Given the description of an element on the screen output the (x, y) to click on. 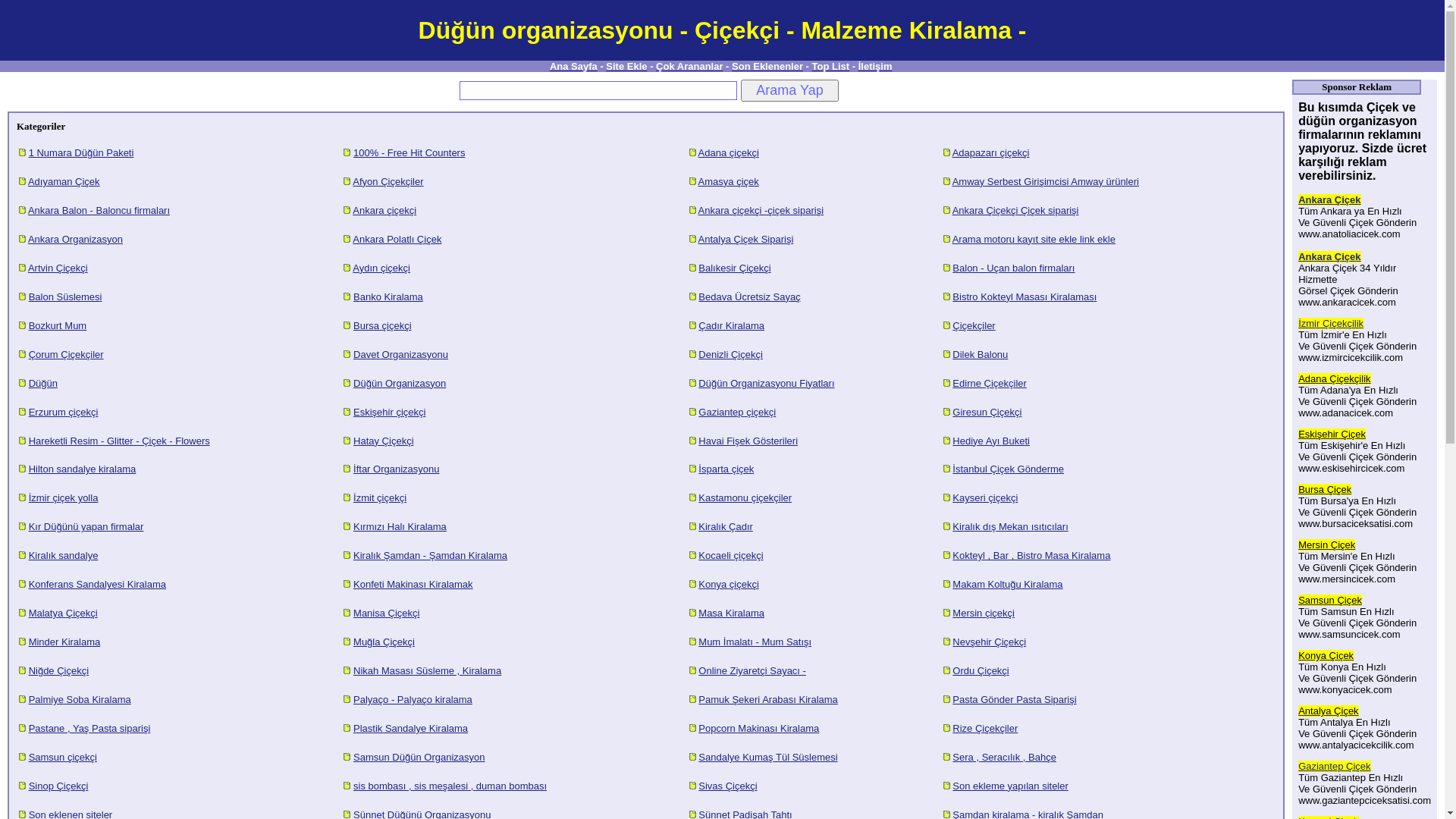
Minder Kiralama Element type: text (64, 641)
Plastik Sandalye Kiralama Element type: text (410, 728)
100% - Free Hit Counters Element type: text (408, 152)
Banko Kiralama Element type: text (388, 296)
Masa Kiralama Element type: text (731, 612)
Hilton sandalye kiralama Element type: text (82, 468)
Site Ekle Element type: text (625, 66)
Ankara Organizasyon Element type: text (75, 238)
Arama Yap Element type: text (789, 90)
Bozkurt Mum Element type: text (57, 325)
Dilek Balonu Element type: text (979, 354)
Davet Organizasyonu Element type: text (400, 354)
Palmiye Soba Kiralama Element type: text (79, 699)
Kokteyl , Bar , Bistro Masa Kiralama Element type: text (1031, 555)
Son Eklenenler Element type: text (767, 66)
Samsun Element type: text (1316, 599)
Top List Element type: text (831, 66)
Ana Sayfa Element type: text (573, 66)
Konferans Sandalyesi Kiralama Element type: text (97, 583)
